Given the description of an element on the screen output the (x, y) to click on. 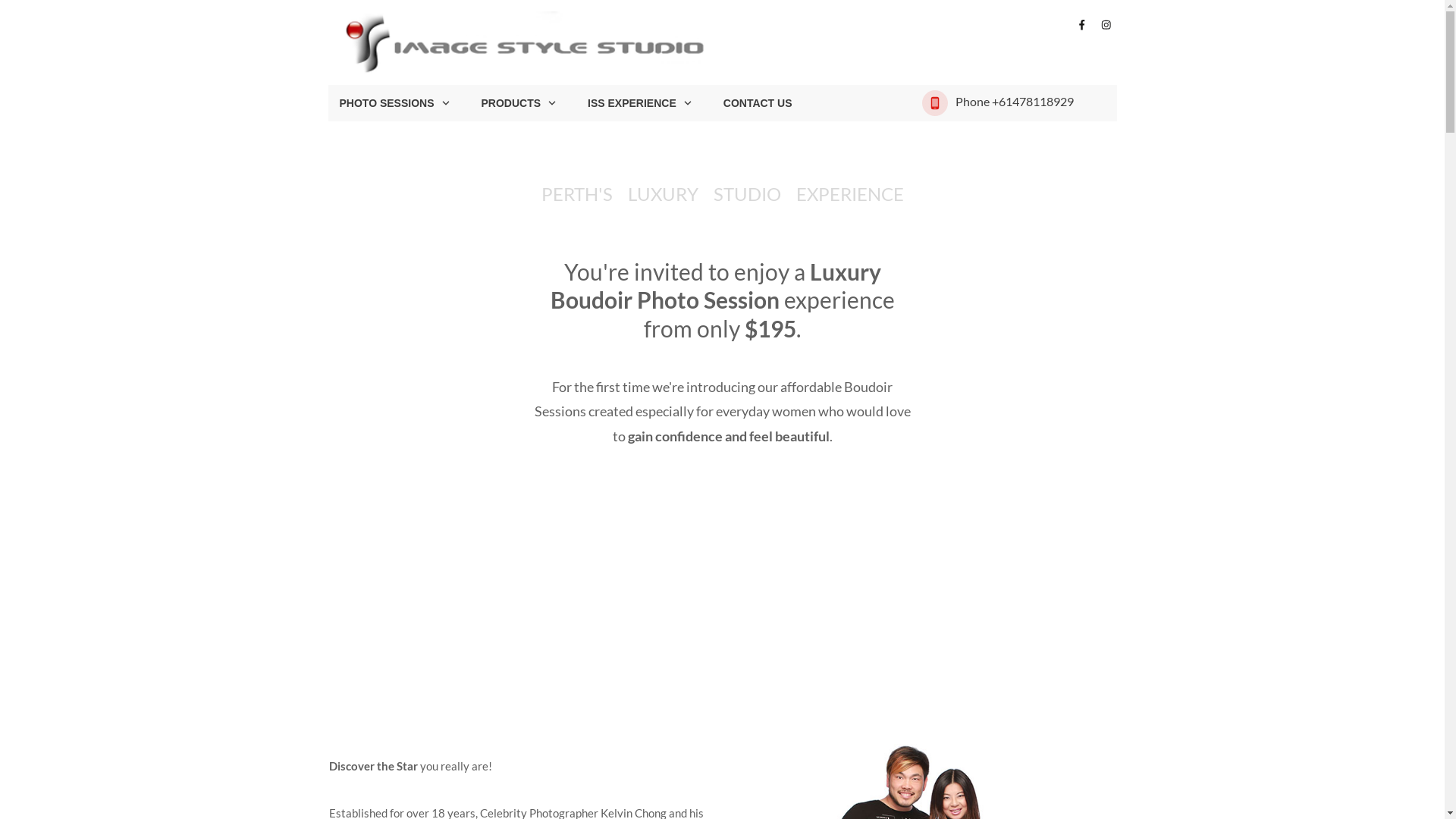
PHOTO SESSIONS Element type: text (395, 102)
ISS EXPERIENCE Element type: text (640, 102)
PRODUCTS Element type: text (518, 102)
CONTACT US Element type: text (757, 102)
